Given the description of an element on the screen output the (x, y) to click on. 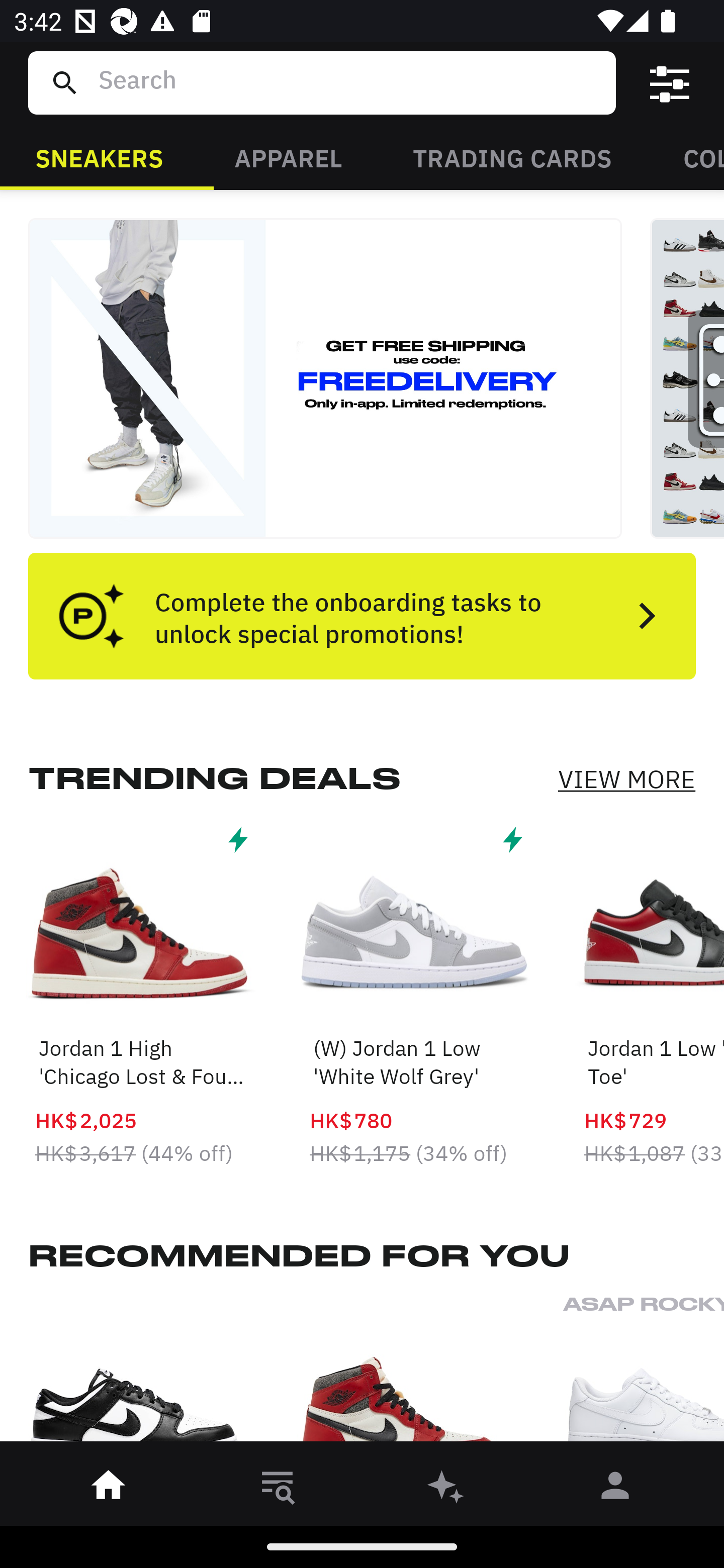
Search (349, 82)
 (669, 82)
SNEAKERS (99, 156)
APPAREL (287, 156)
TRADING CARDS (512, 156)
VIEW MORE (626, 779)
ASAP ROCKY (643, 1373)
󰋜 (108, 1488)
󱎸 (277, 1488)
󰫢 (446, 1488)
󰀄 (615, 1488)
